Given the description of an element on the screen output the (x, y) to click on. 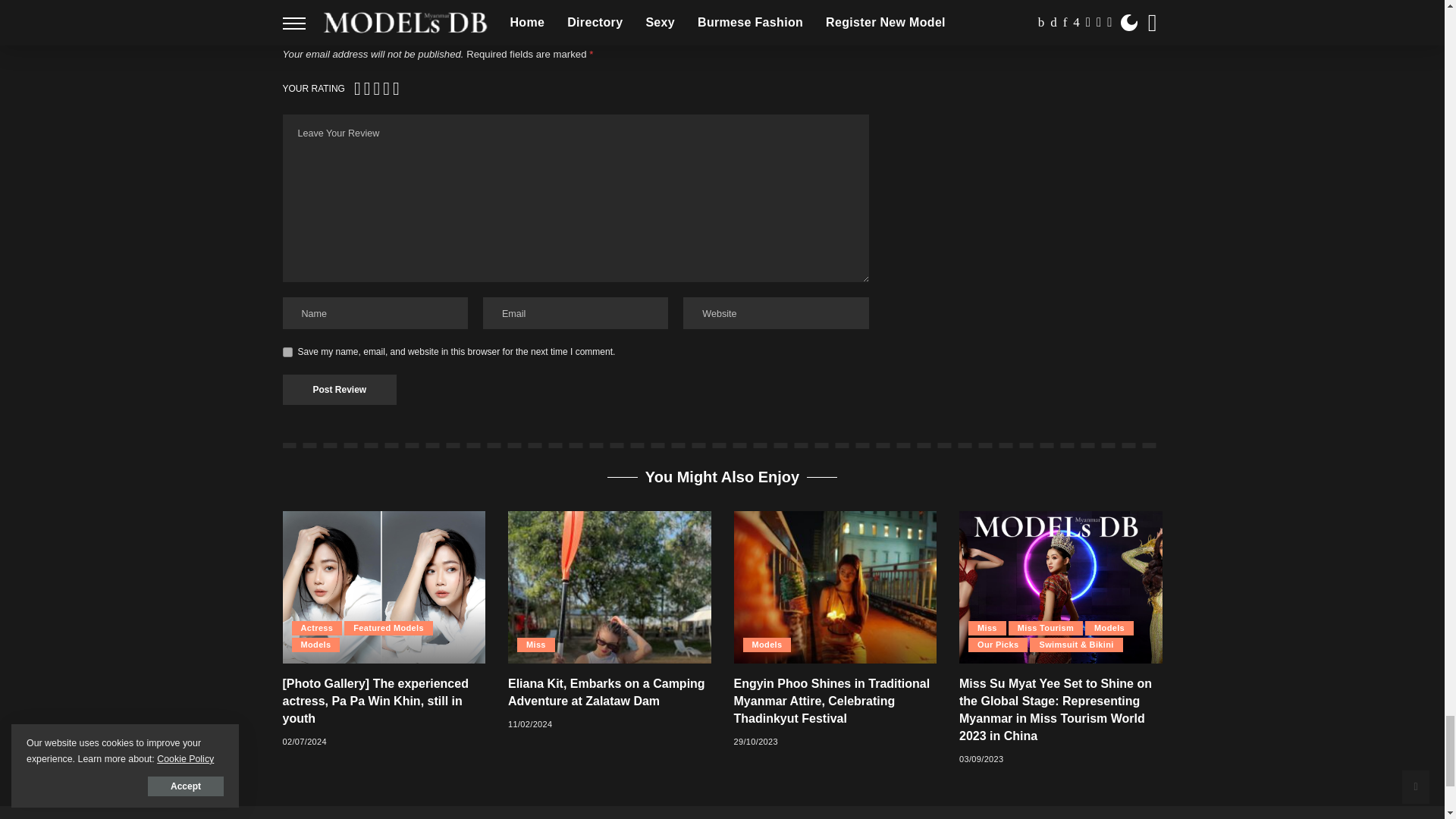
Post Review (339, 389)
yes (287, 352)
